Given the description of an element on the screen output the (x, y) to click on. 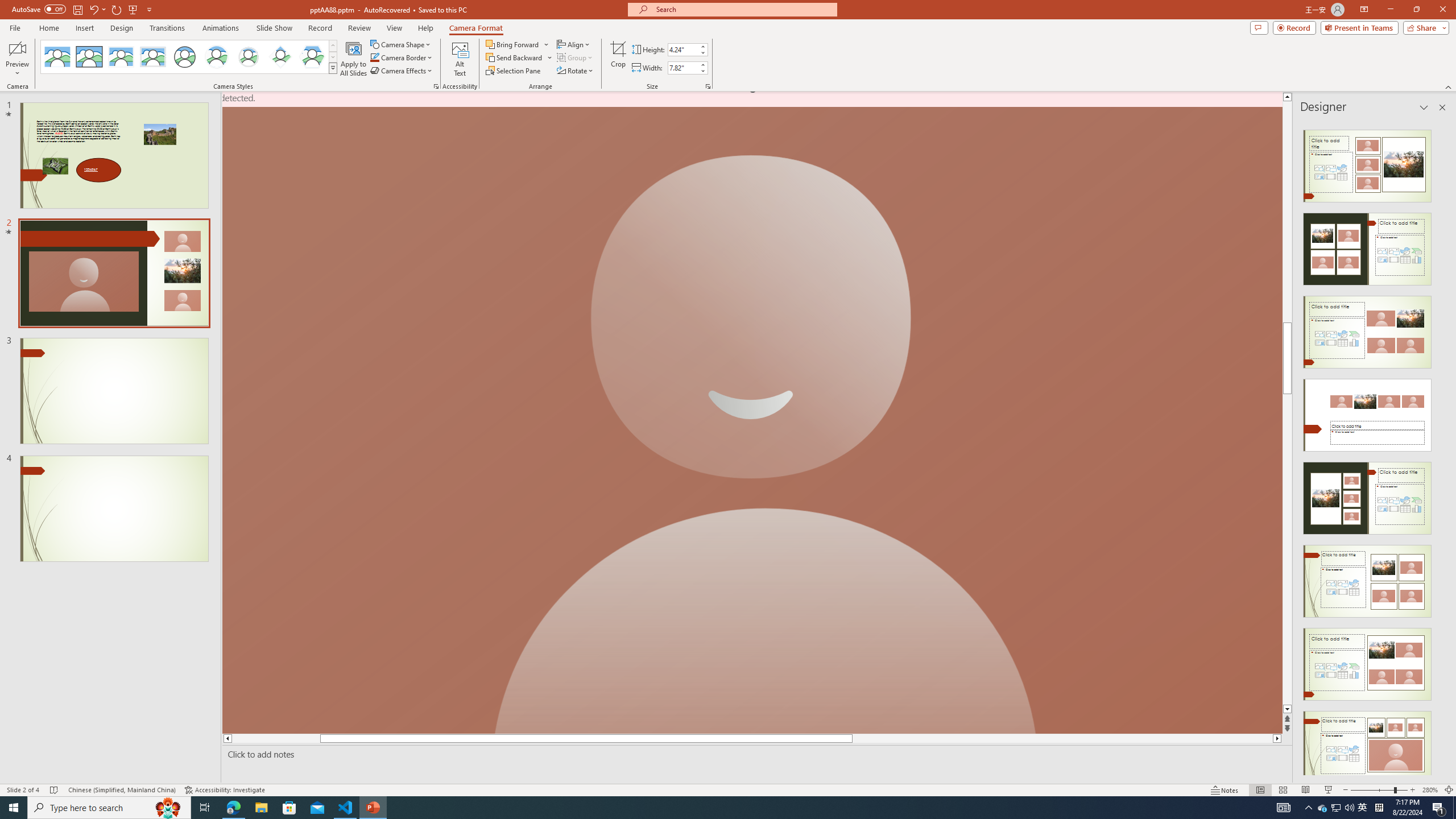
Camera Format (475, 28)
Simple Frame Rectangle (88, 56)
Bring Forward (517, 44)
Recommended Design: Design Idea (1366, 162)
AutomationID: CameoStylesGallery (189, 56)
Cameo Width (682, 67)
Camera Effects (402, 69)
